Given the description of an element on the screen output the (x, y) to click on. 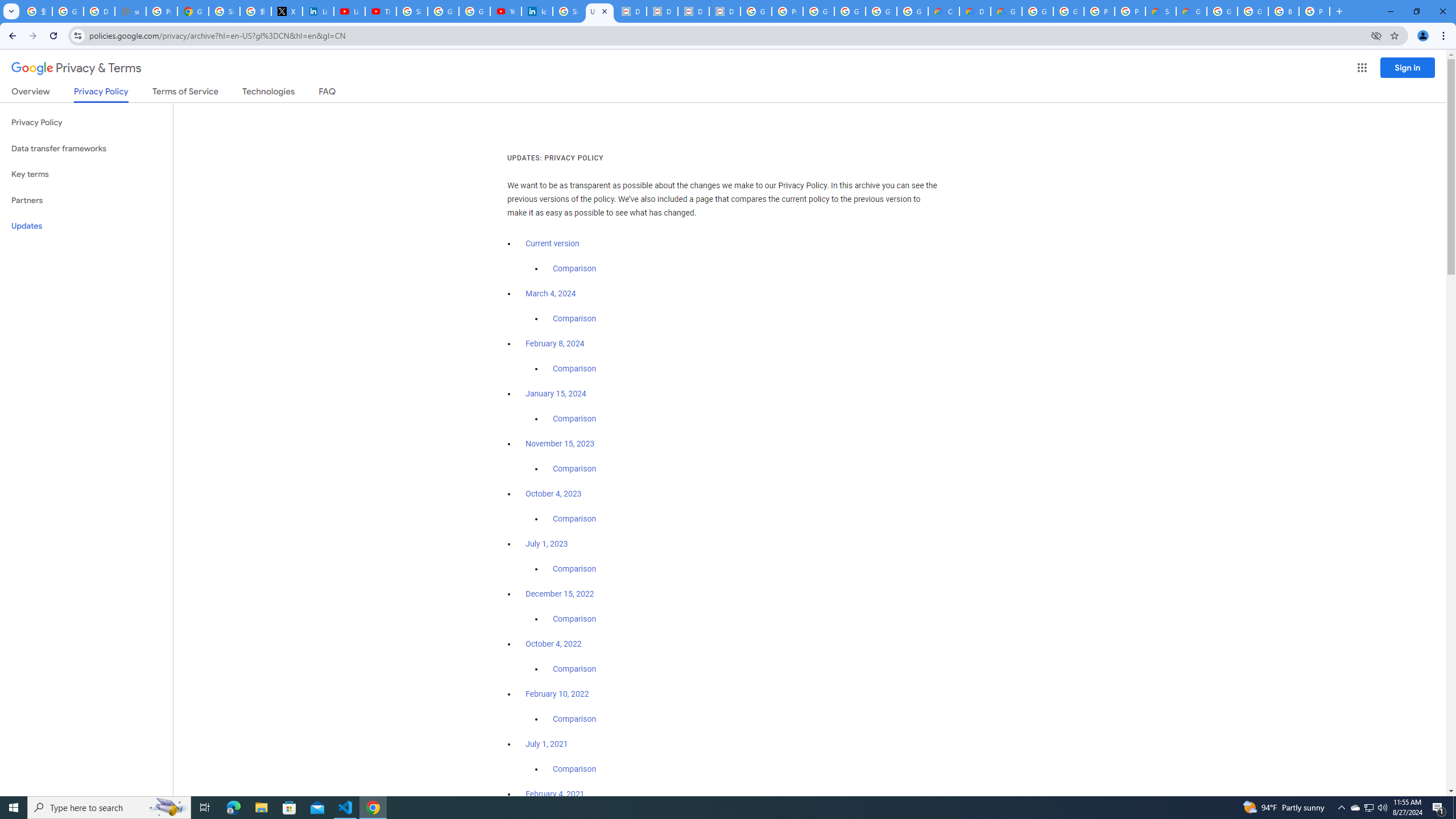
February 10, 2022 (557, 693)
February 8, 2024 (555, 343)
LinkedIn - YouTube (349, 11)
Comparison (574, 768)
Data transfer frameworks (86, 148)
Support Hub | Google Cloud (1160, 11)
January 15, 2024 (555, 394)
Current version (552, 243)
